Given the description of an element on the screen output the (x, y) to click on. 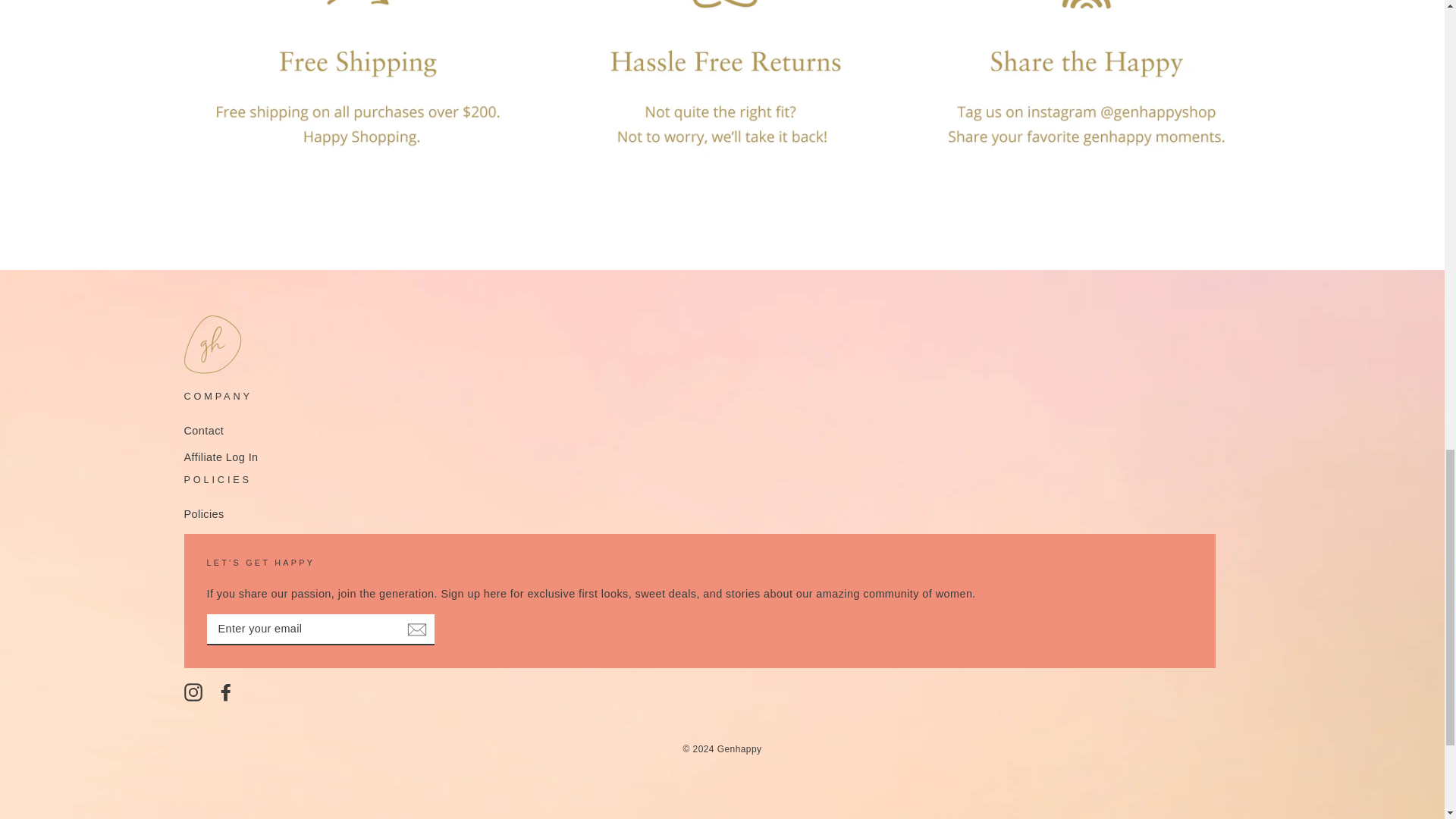
Genhappy on Facebook (225, 692)
Genhappy on Instagram (192, 692)
